Given the description of an element on the screen output the (x, y) to click on. 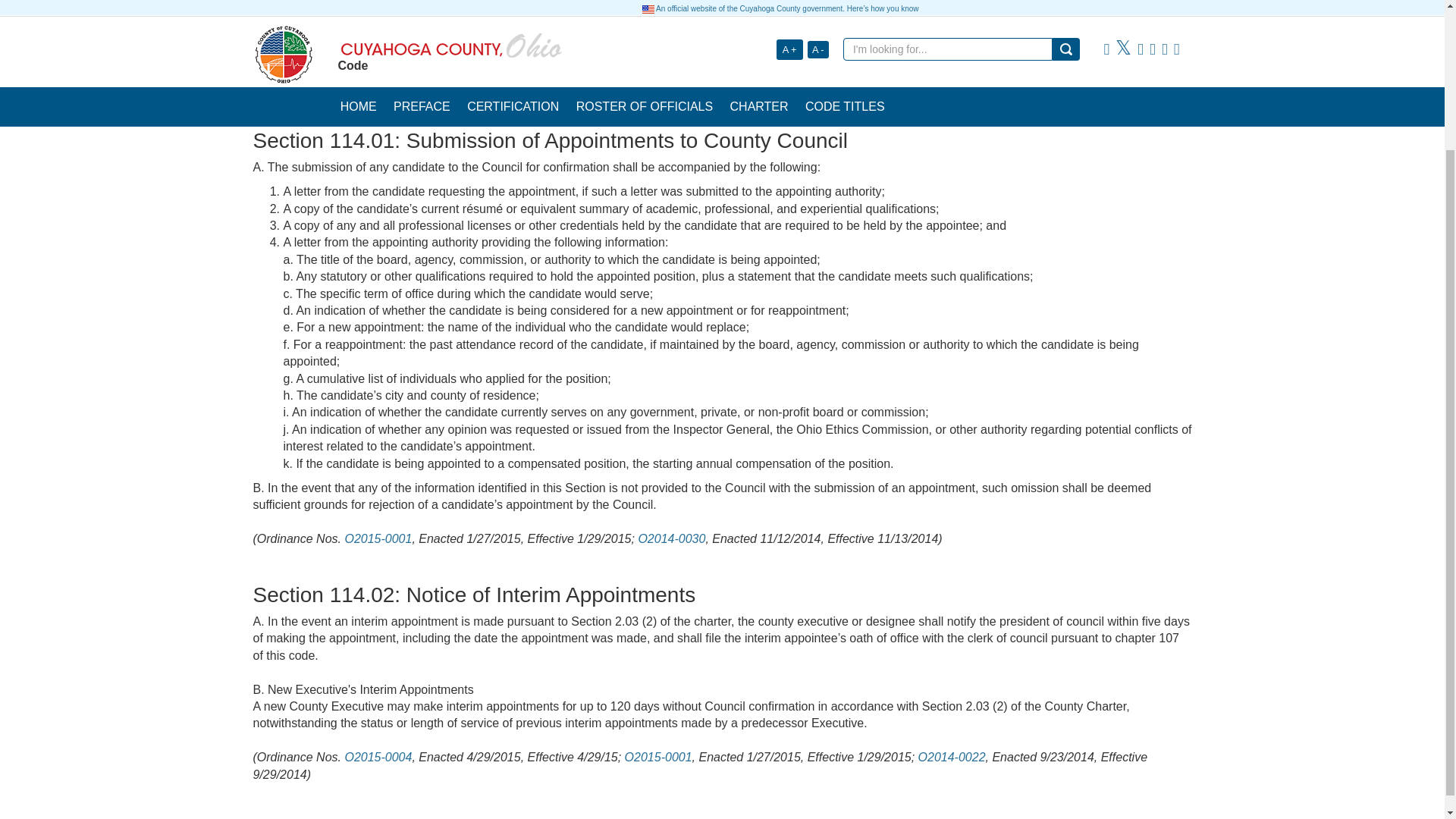
O2015-0004 (377, 757)
Next Title (1166, 83)
O2015-0001 (377, 538)
O2015-0001 (658, 757)
O2014-0030 (670, 538)
O2014-0022 (951, 757)
